Given the description of an element on the screen output the (x, y) to click on. 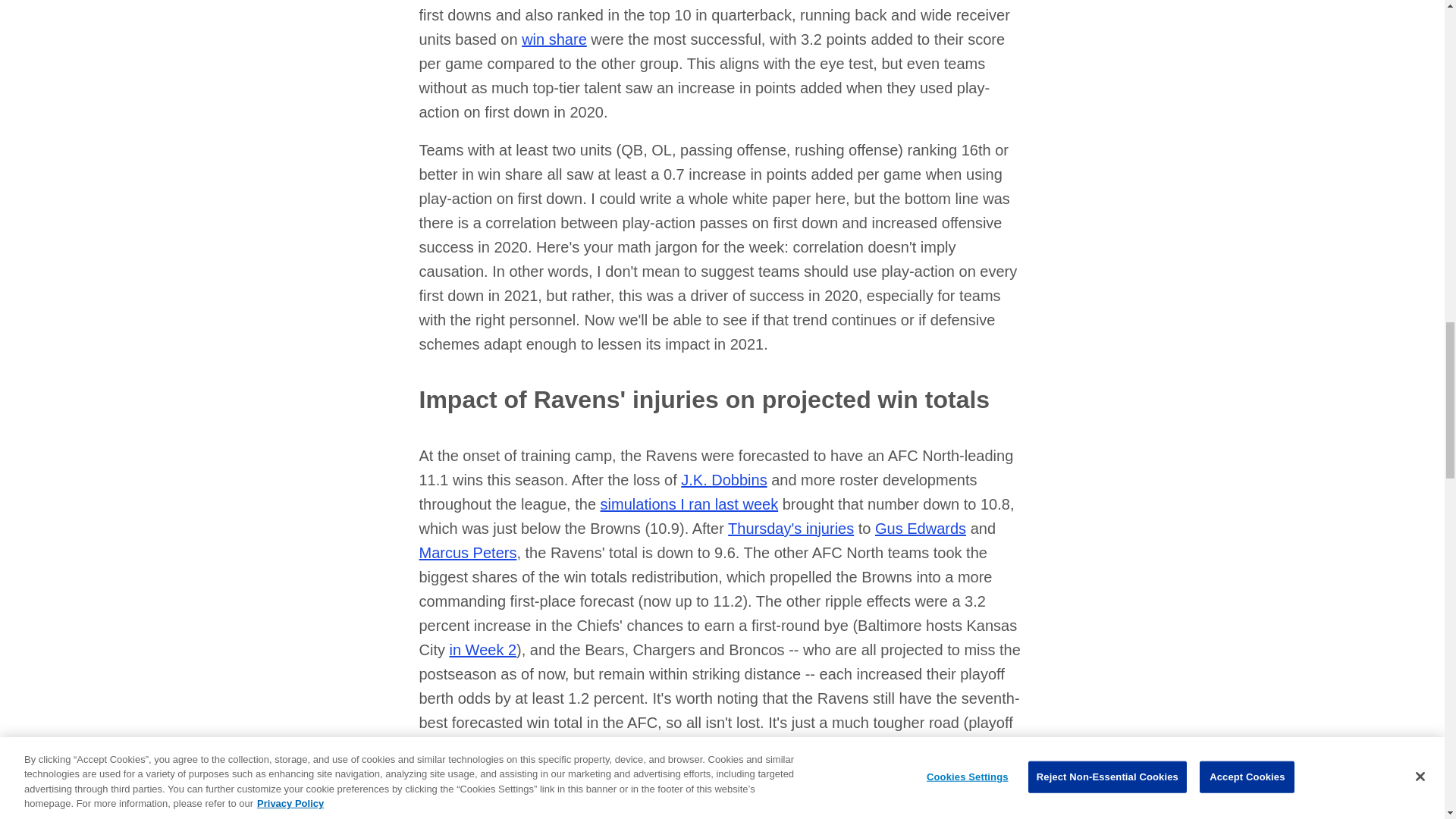
J.K. Dobbins (724, 479)
in Week 2 (482, 649)
Thursday's injuries (790, 528)
Marcus Peters (467, 552)
simulations I ran last week (688, 504)
Gus Edwards (920, 528)
win share (553, 39)
J.K. Dobbins (724, 479)
